Given the description of an element on the screen output the (x, y) to click on. 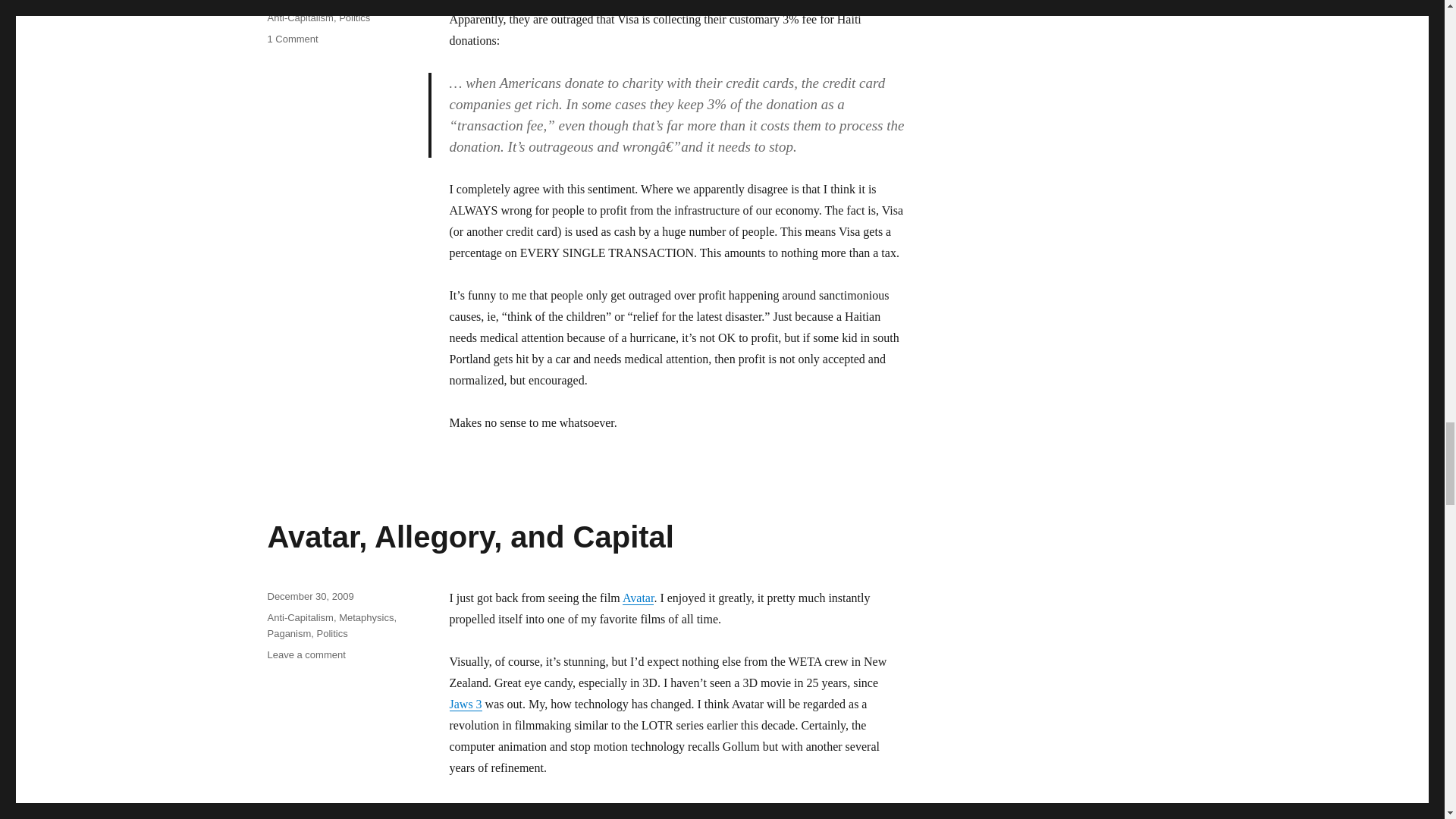
Jaws 3 (464, 703)
December 30, 2009 (309, 595)
Avatar, Allegory, and Capital (469, 536)
Anti-Capitalism (291, 39)
Avatar (299, 17)
Politics (638, 597)
January 15, 2010 (354, 17)
